Given the description of an element on the screen output the (x, y) to click on. 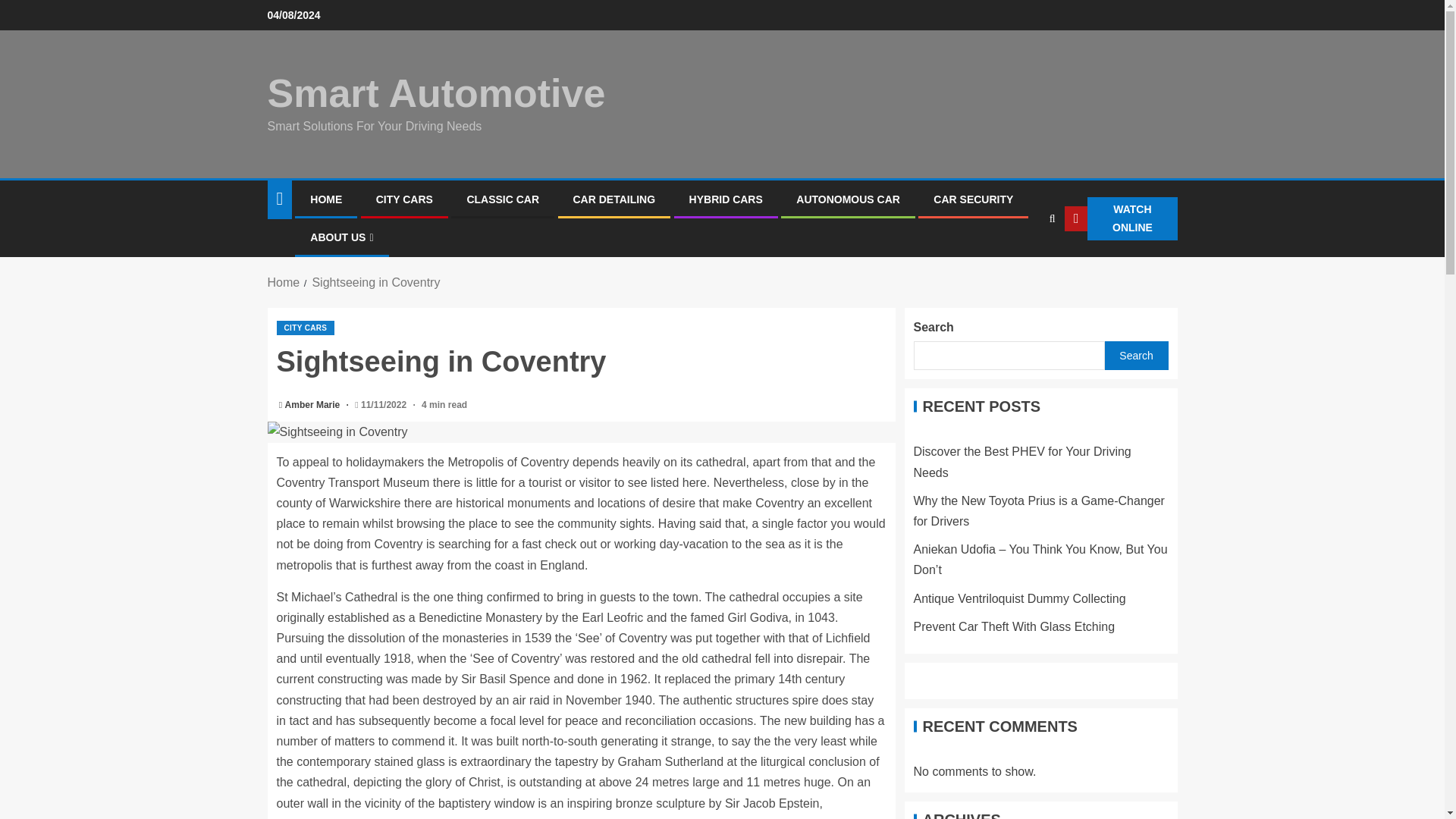
CLASSIC CAR (501, 199)
HYBRID CARS (725, 199)
CAR SECURITY (973, 199)
ABOUT US (341, 236)
Sightseeing in Coventry (375, 282)
Home (282, 282)
HOME (326, 199)
CAR DETAILING (614, 199)
AUTONOMOUS CAR (847, 199)
WATCH ONLINE (1120, 218)
CITY CARS (403, 199)
Sightseeing in Coventry (580, 431)
Smart Automotive (435, 93)
CITY CARS (305, 327)
Search (1021, 265)
